Given the description of an element on the screen output the (x, y) to click on. 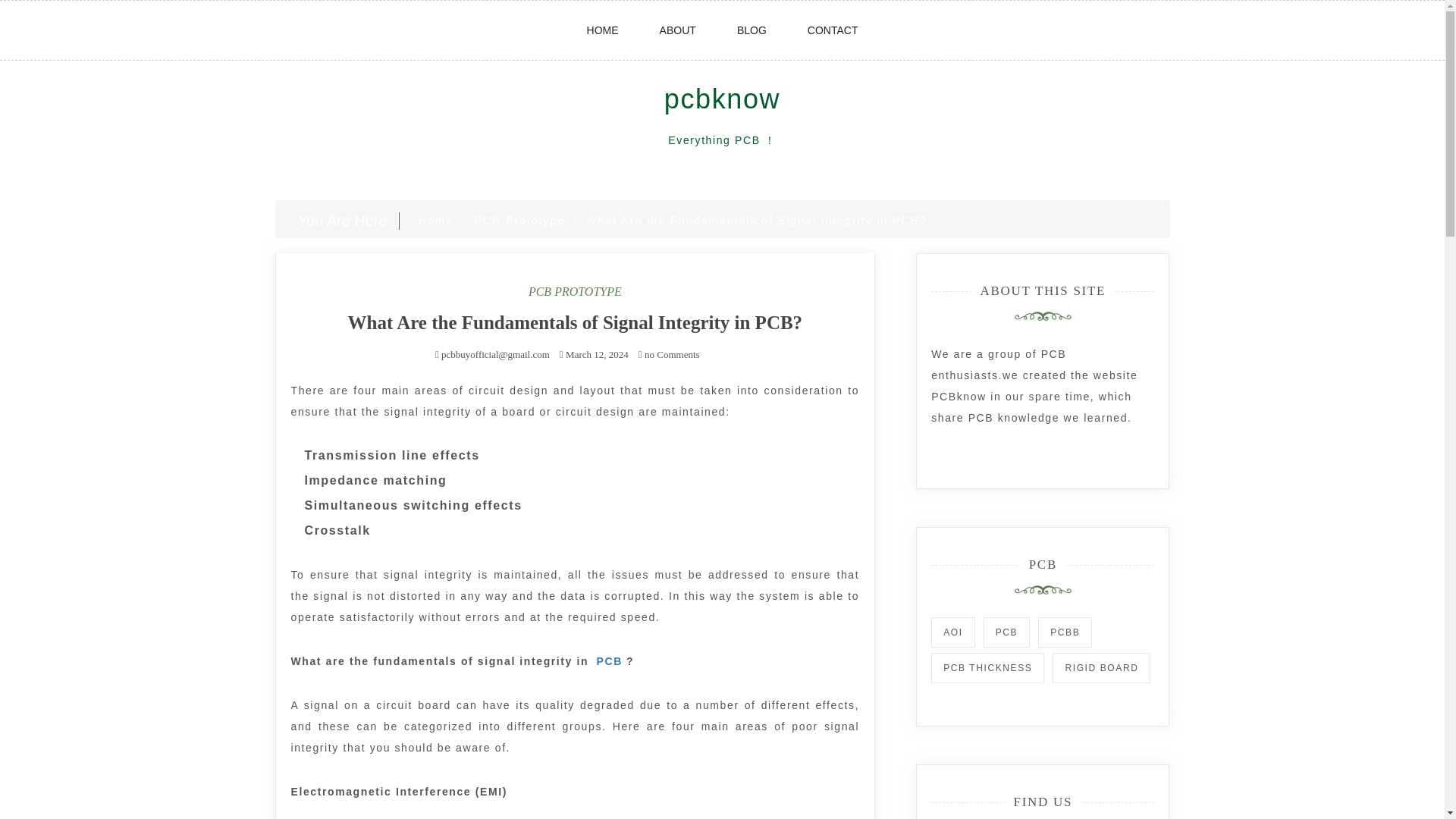
no Comments (669, 354)
What Are the Fundamentals of Signal Integrity in PCB? (575, 322)
ABOUT (678, 29)
pcbknow (722, 98)
Home (435, 219)
HOME (603, 29)
March 12, 2024 (597, 354)
PCB THICKNESS (987, 667)
CONTACT (832, 29)
PCB Prototype (519, 219)
PCBB (1065, 632)
BLOG (751, 29)
PCB (1006, 632)
PCB PROTOTYPE (574, 291)
RIGID BOARD (1101, 667)
